Given the description of an element on the screen output the (x, y) to click on. 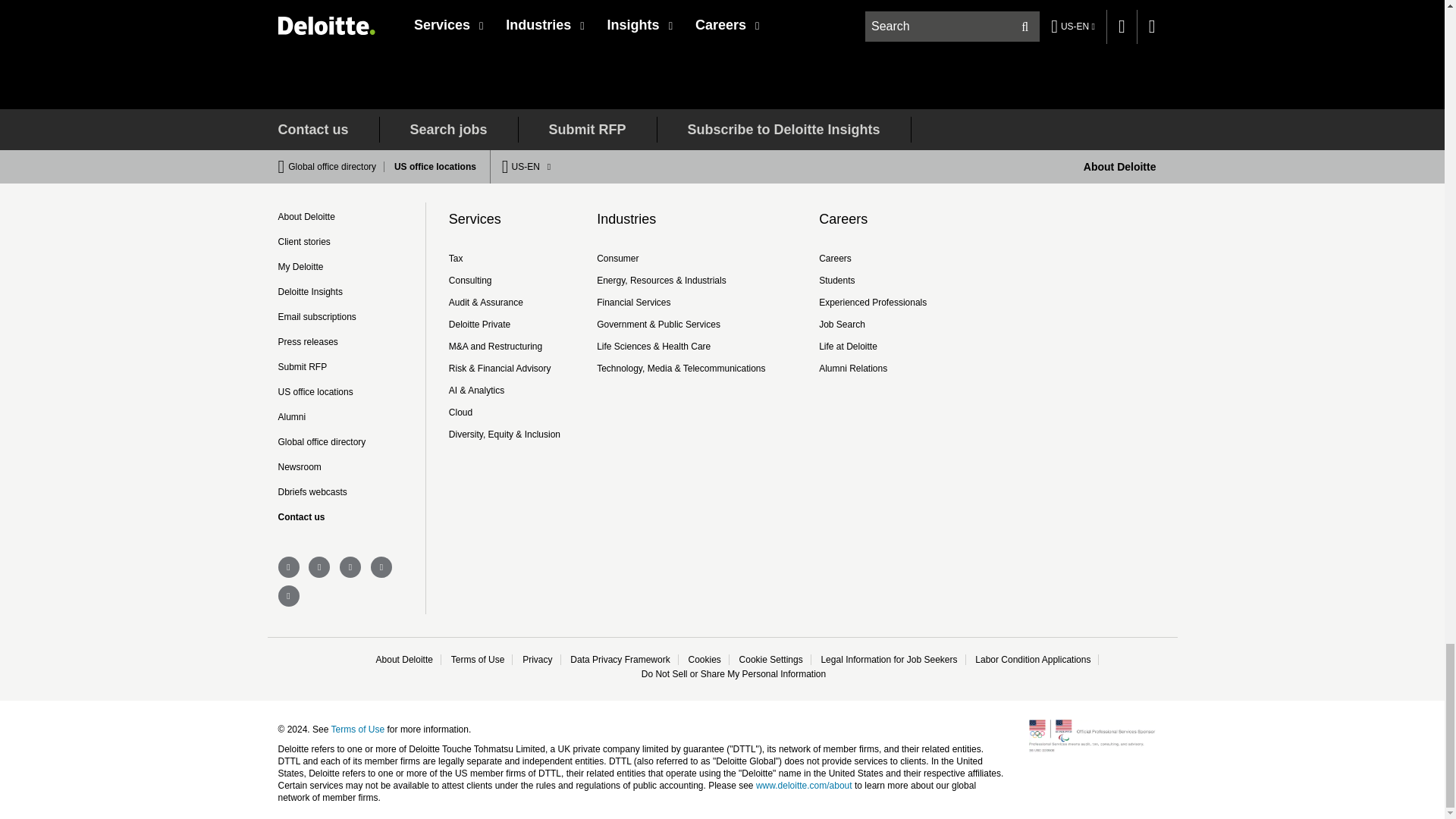
About Deloitte (1119, 166)
US office locations (431, 166)
connect with deloitte on linkedin (319, 567)
Global office directory (336, 166)
view deloitte us on youtube (350, 567)
follow deloitte us on twitter (288, 567)
